Given the description of an element on the screen output the (x, y) to click on. 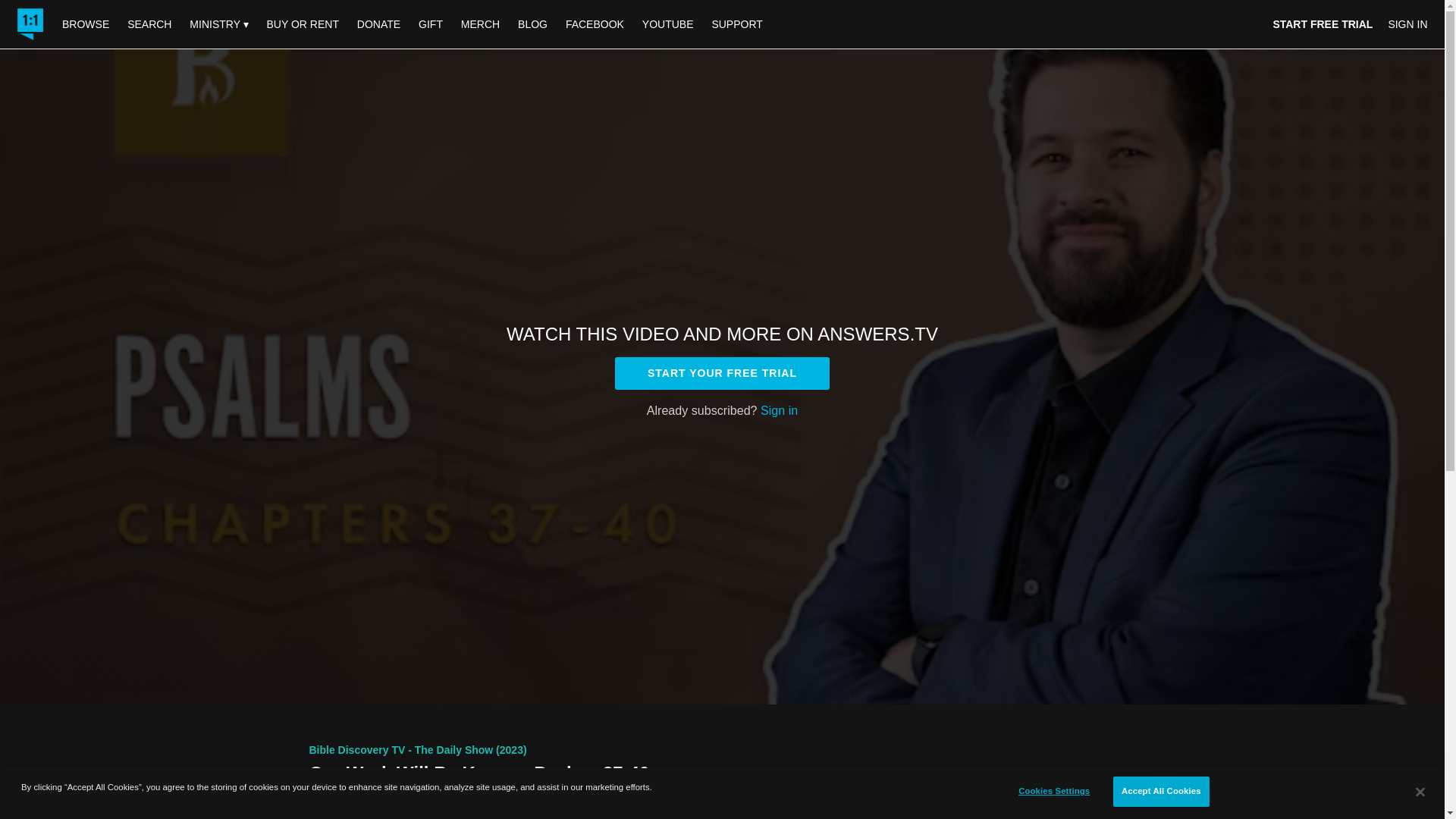
Twitter (988, 816)
Season 5, Episode 15 (360, 795)
SIGN IN (1406, 24)
Skip to main content (48, 7)
Email (1029, 816)
BUY OR RENT (302, 24)
YOUTUBE (667, 24)
BLOG (532, 24)
START FREE TRIAL (1322, 24)
BROWSE (87, 24)
19-May-2023 (460, 795)
SUPPORT (736, 24)
Facebook (945, 816)
DONATE (378, 24)
FACEBOOK (594, 24)
